Given the description of an element on the screen output the (x, y) to click on. 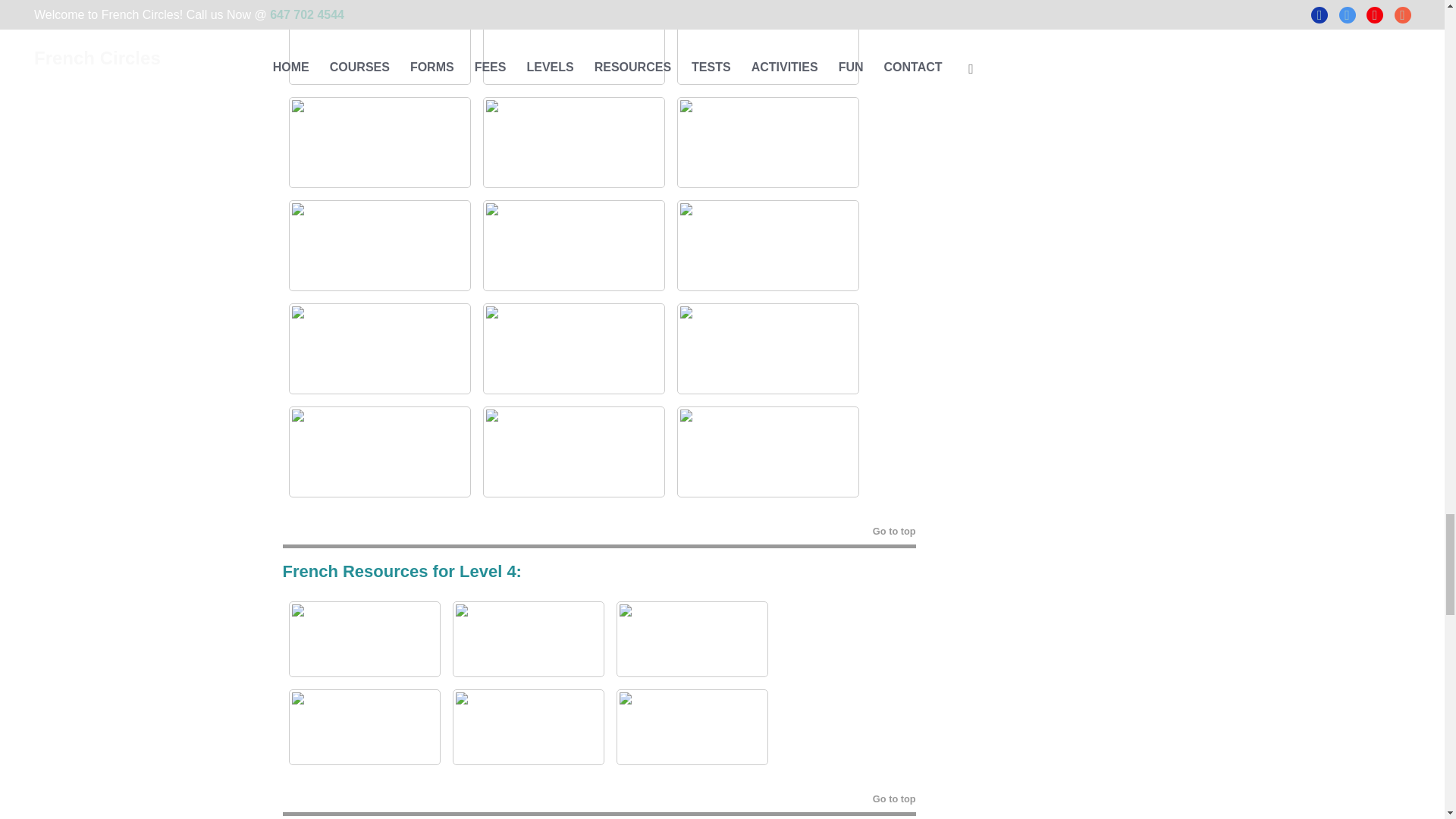
La guillotine-Test (379, 42)
